Given the description of an element on the screen output the (x, y) to click on. 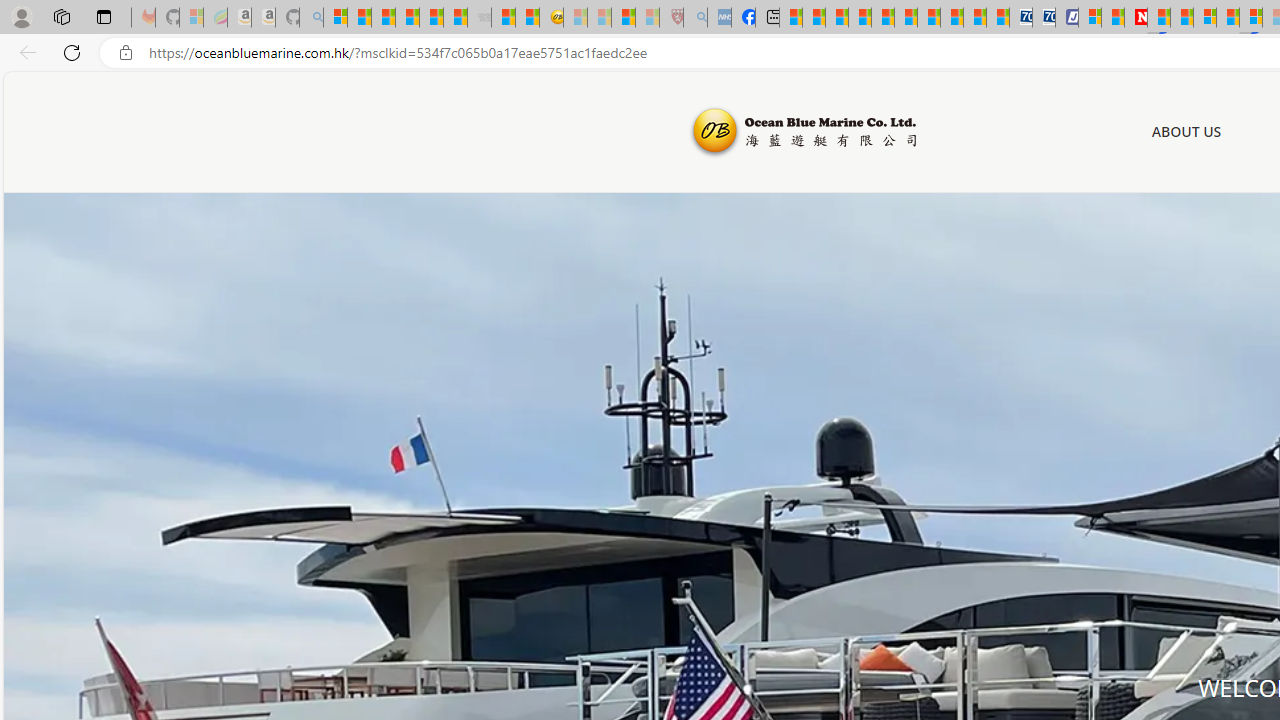
Combat Siege - Sleeping (479, 17)
Latest Politics News & Archive | Newsweek.com (1135, 17)
Cheap Hotels - Save70.com (1043, 17)
New Report Confirms 2023 Was Record Hot | Watch (430, 17)
